Given the description of an element on the screen output the (x, y) to click on. 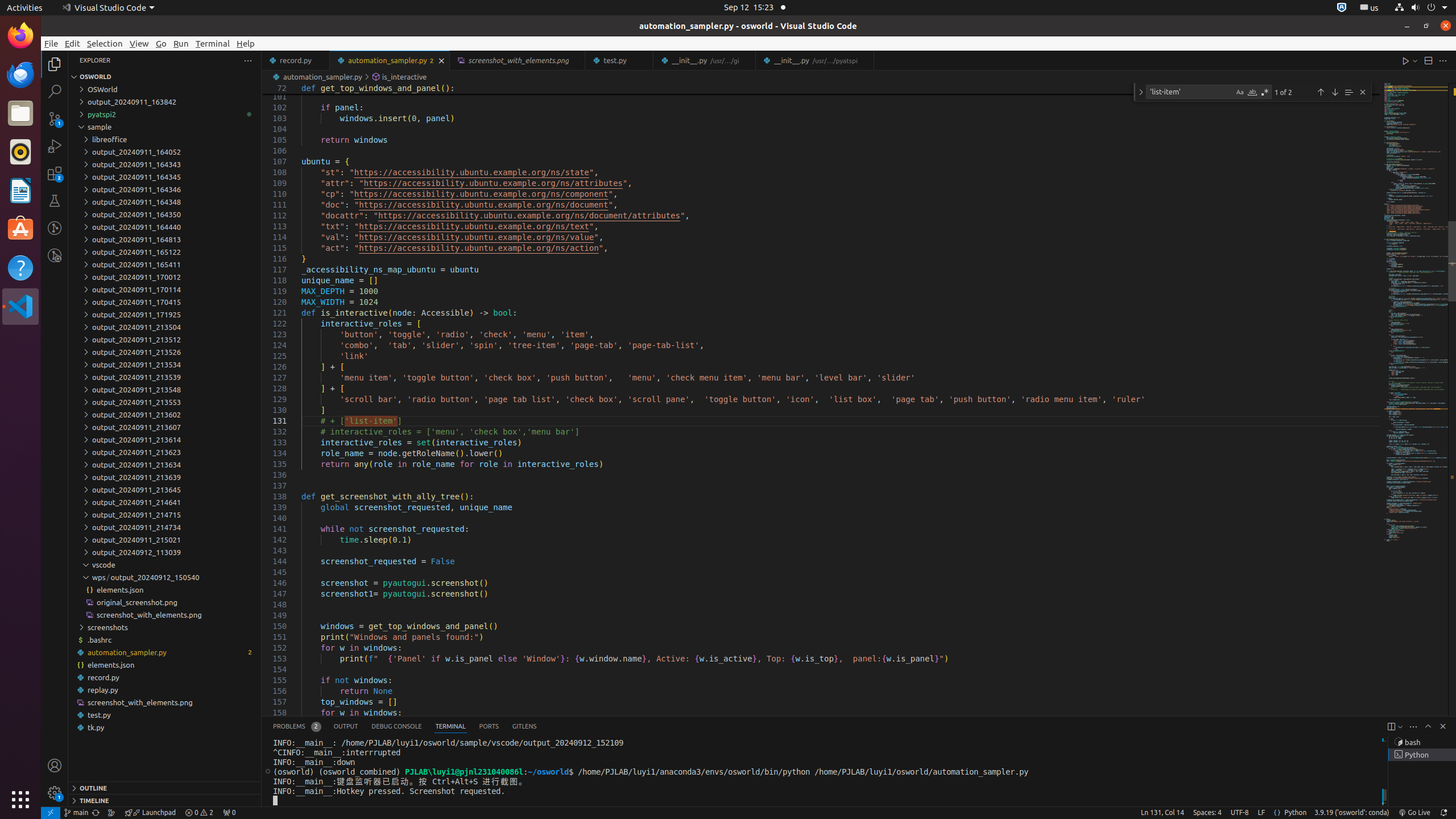
New Terminal (Ctrl+Shift+`) [Alt] Split Terminal (Ctrl+Shift+5) Element type: push-button (1390, 726)
No Ports Forwarded Element type: push-button (228, 812)
output_20240911_165122 Element type: tree-item (164, 251)
output_20240911_213607 Element type: tree-item (164, 426)
